Given the description of an element on the screen output the (x, y) to click on. 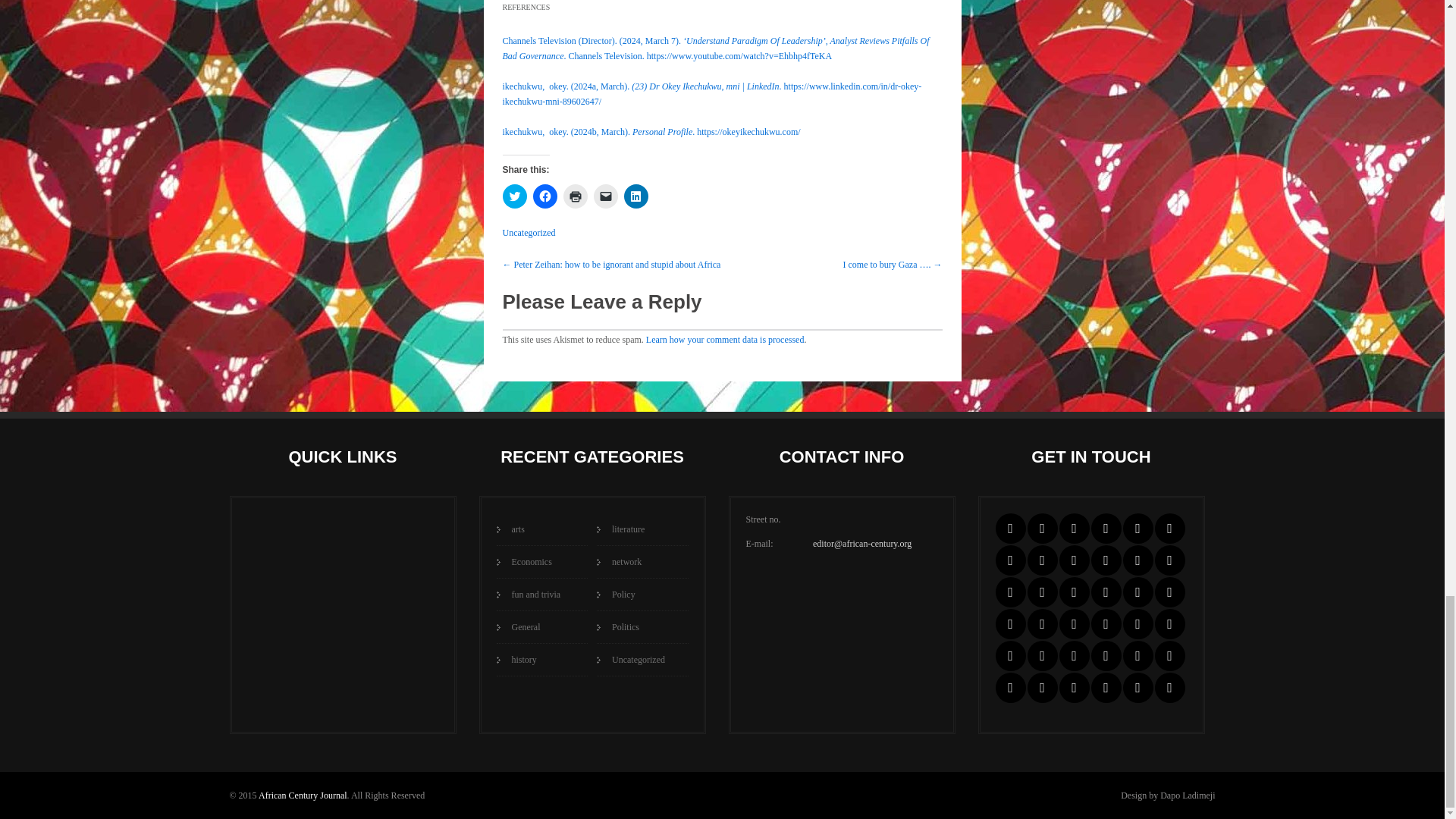
pinterest (1105, 528)
Click to email a link to a friend (604, 196)
Click to share on LinkedIn (635, 196)
facebook (1009, 528)
View all posts in Uncategorized (528, 232)
Click to share on Facebook (544, 196)
google-plus (1137, 528)
twitter (1041, 528)
Click to share on Twitter (513, 196)
Click to print (574, 196)
youtube (1169, 528)
linkedin (1073, 528)
